Given the description of an element on the screen output the (x, y) to click on. 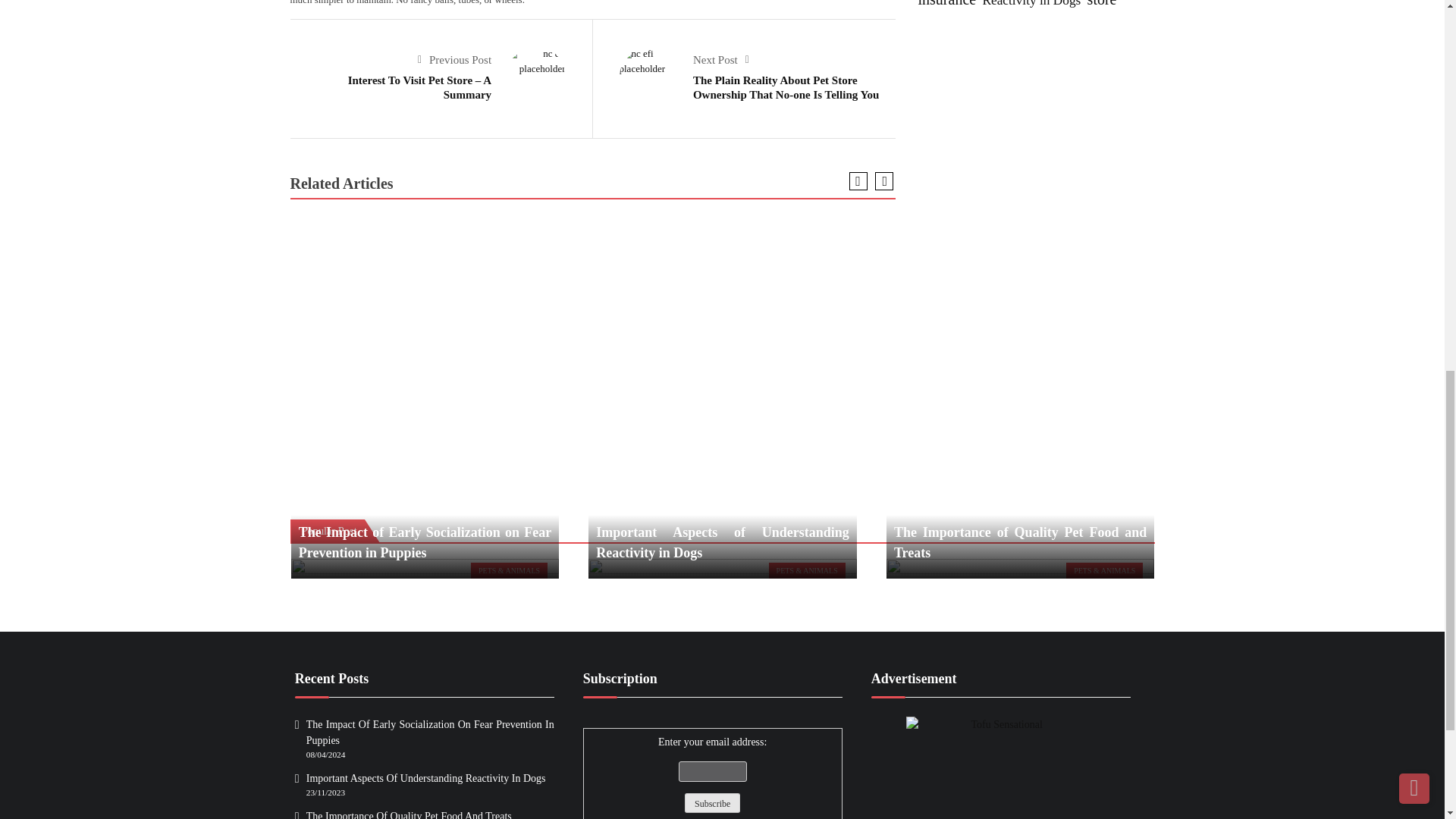
Subscribe (711, 803)
Previous Post (454, 60)
Interest To Visit Pet Store - A Summary (535, 60)
